Given the description of an element on the screen output the (x, y) to click on. 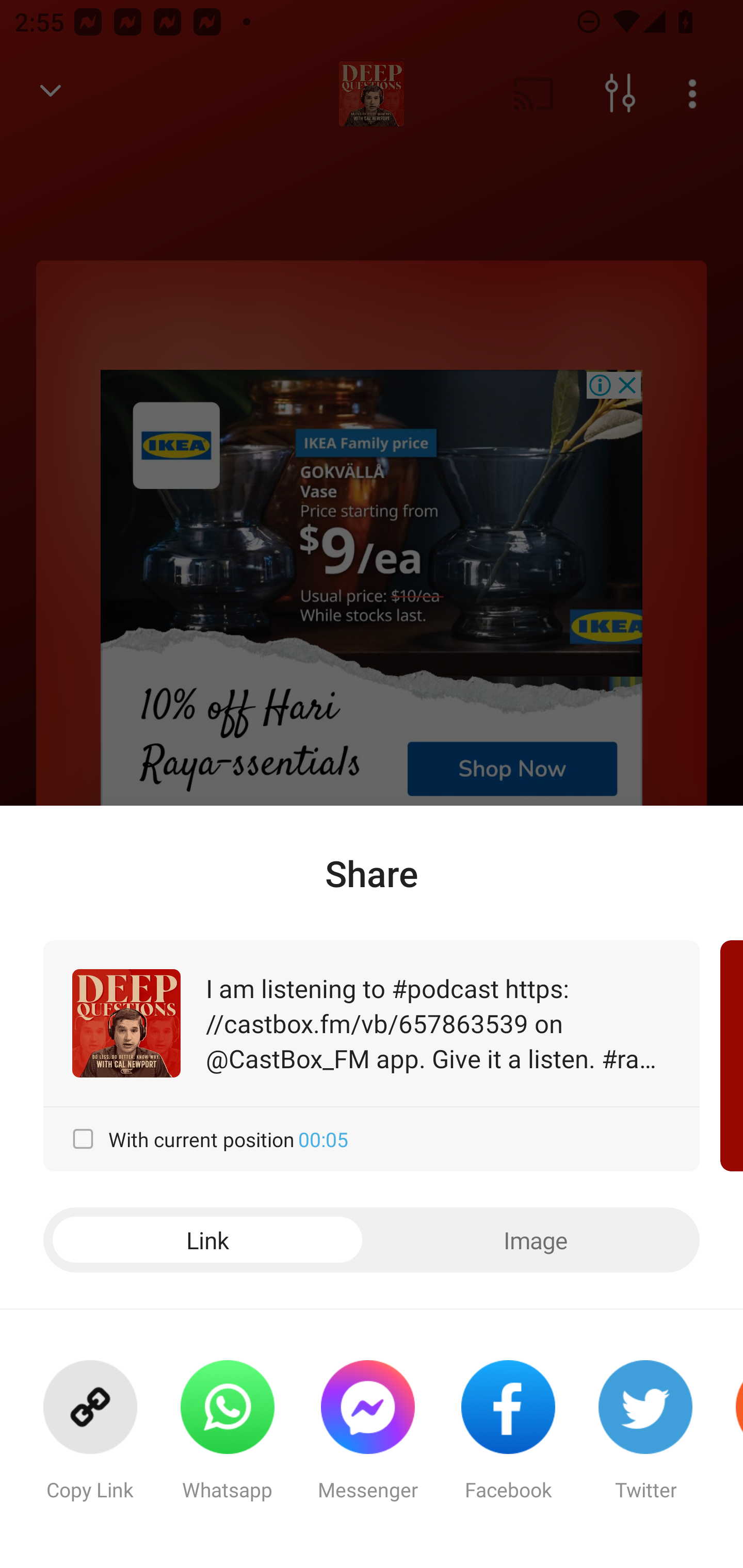
With current position 00:05 (371, 1138)
Link (207, 1240)
Image (535, 1240)
Copy Link (90, 1438)
Whatsapp (227, 1438)
Messenger (367, 1438)
Facebook (508, 1438)
Twitter (645, 1438)
